Given the description of an element on the screen output the (x, y) to click on. 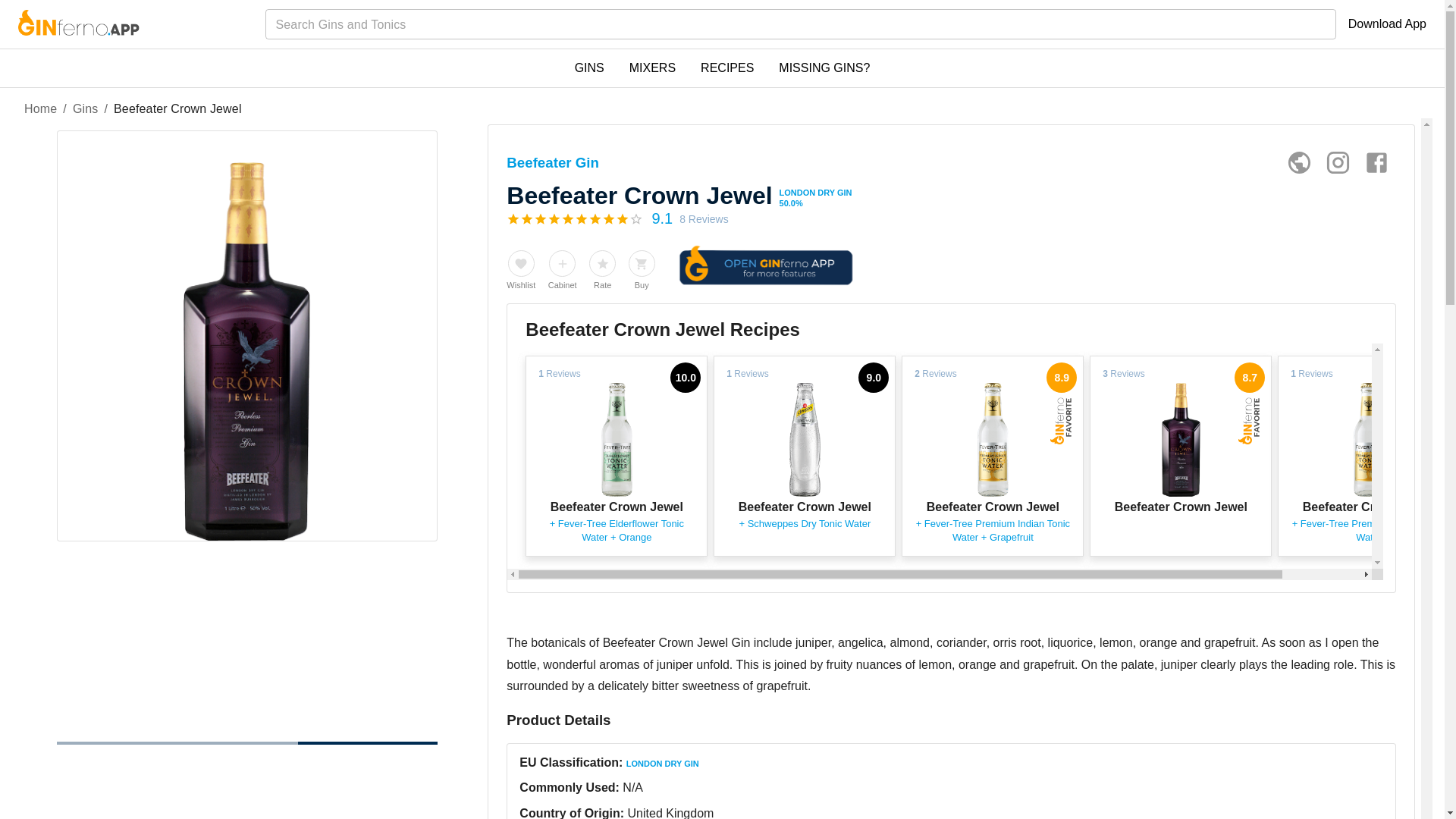
Beefeater Gin (552, 162)
RECIPES (727, 68)
Download App (1387, 24)
Gins (85, 108)
United Kingdom (670, 812)
GINS (589, 68)
MISSING GINS? (823, 68)
Home (40, 108)
MIXERS (651, 68)
